Given the description of an element on the screen output the (x, y) to click on. 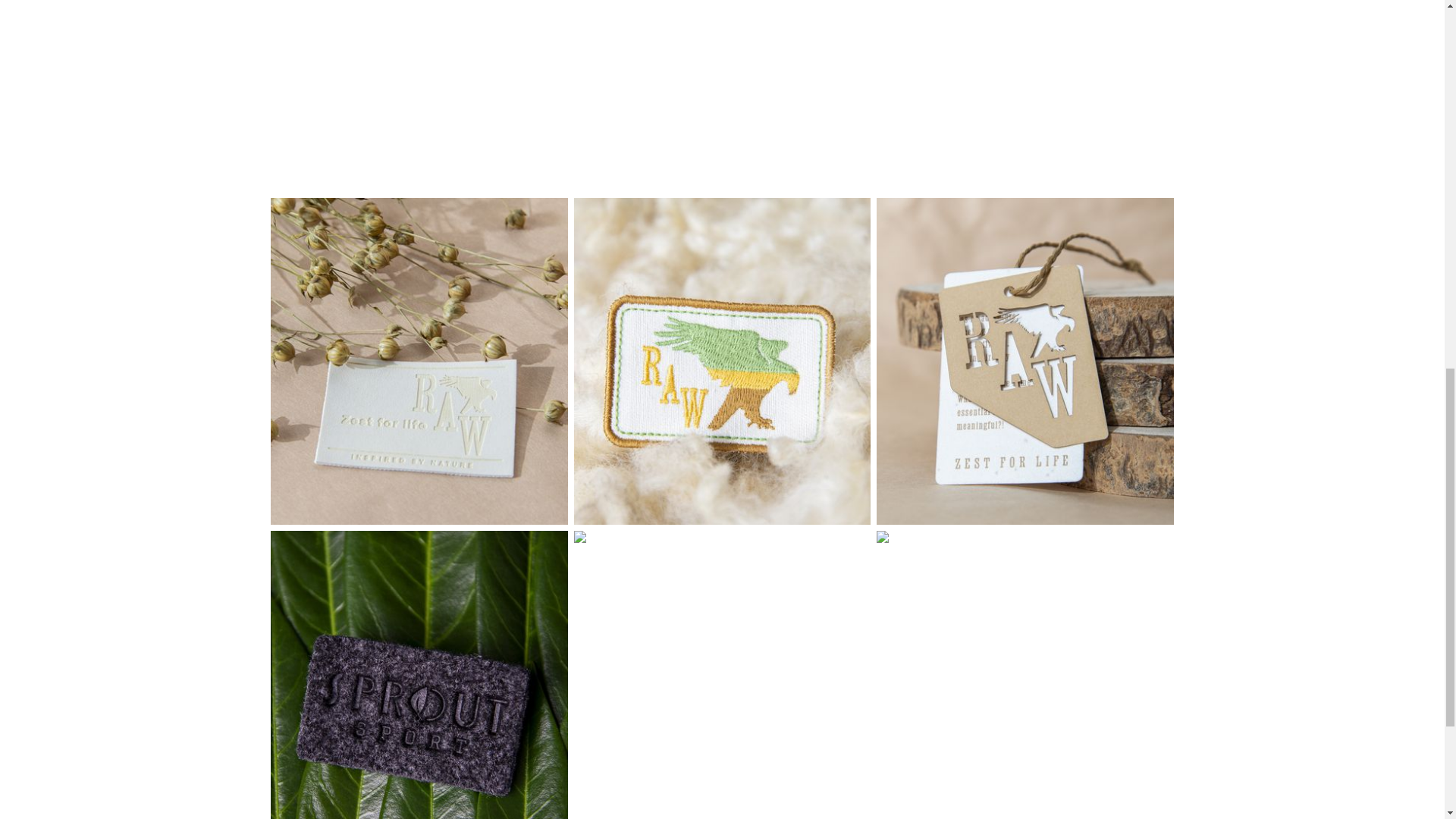
RAW Presentation (561, 56)
